Given the description of an element on the screen output the (x, y) to click on. 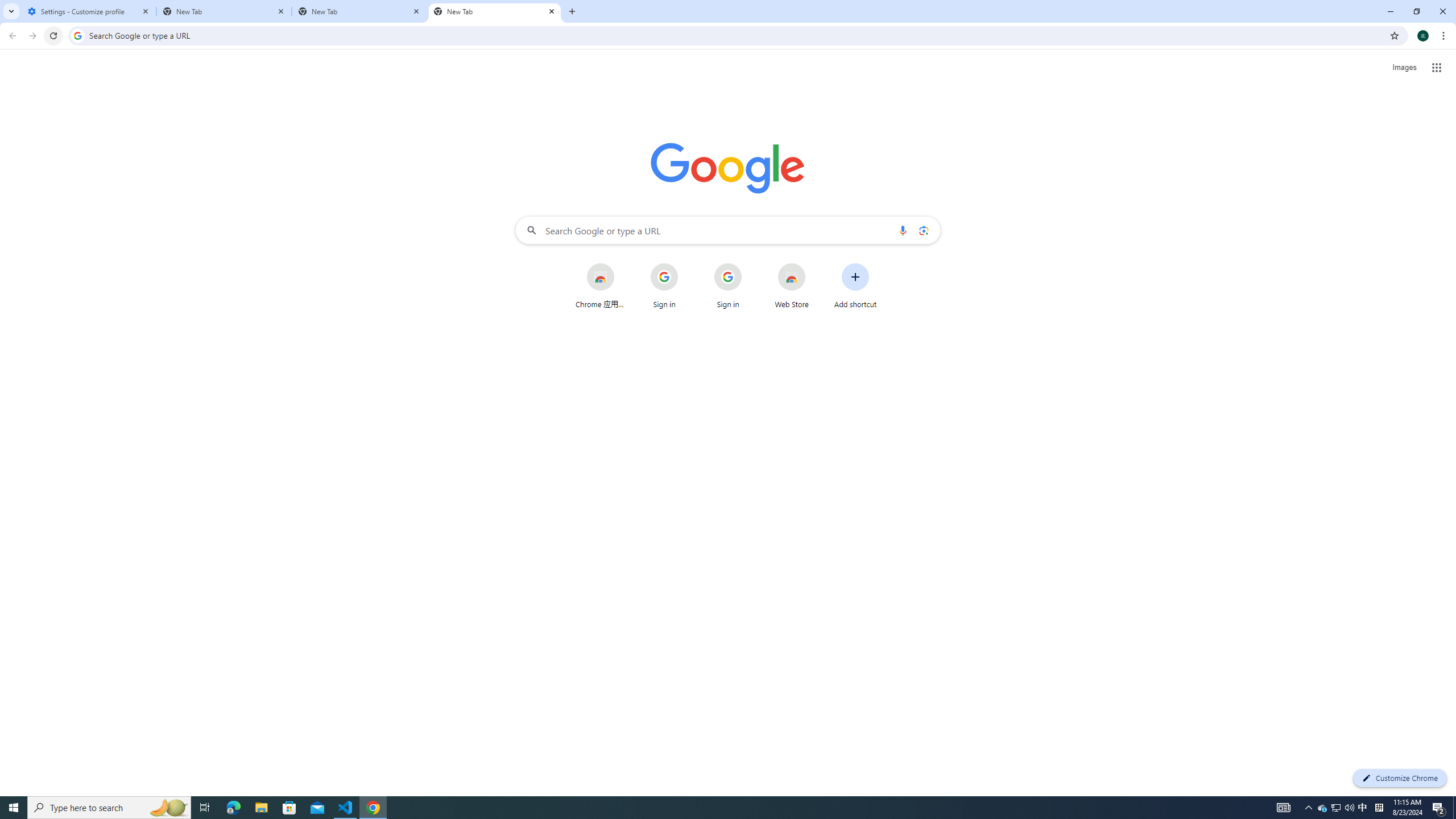
More actions for Web Store shortcut (814, 264)
